Given the description of an element on the screen output the (x, y) to click on. 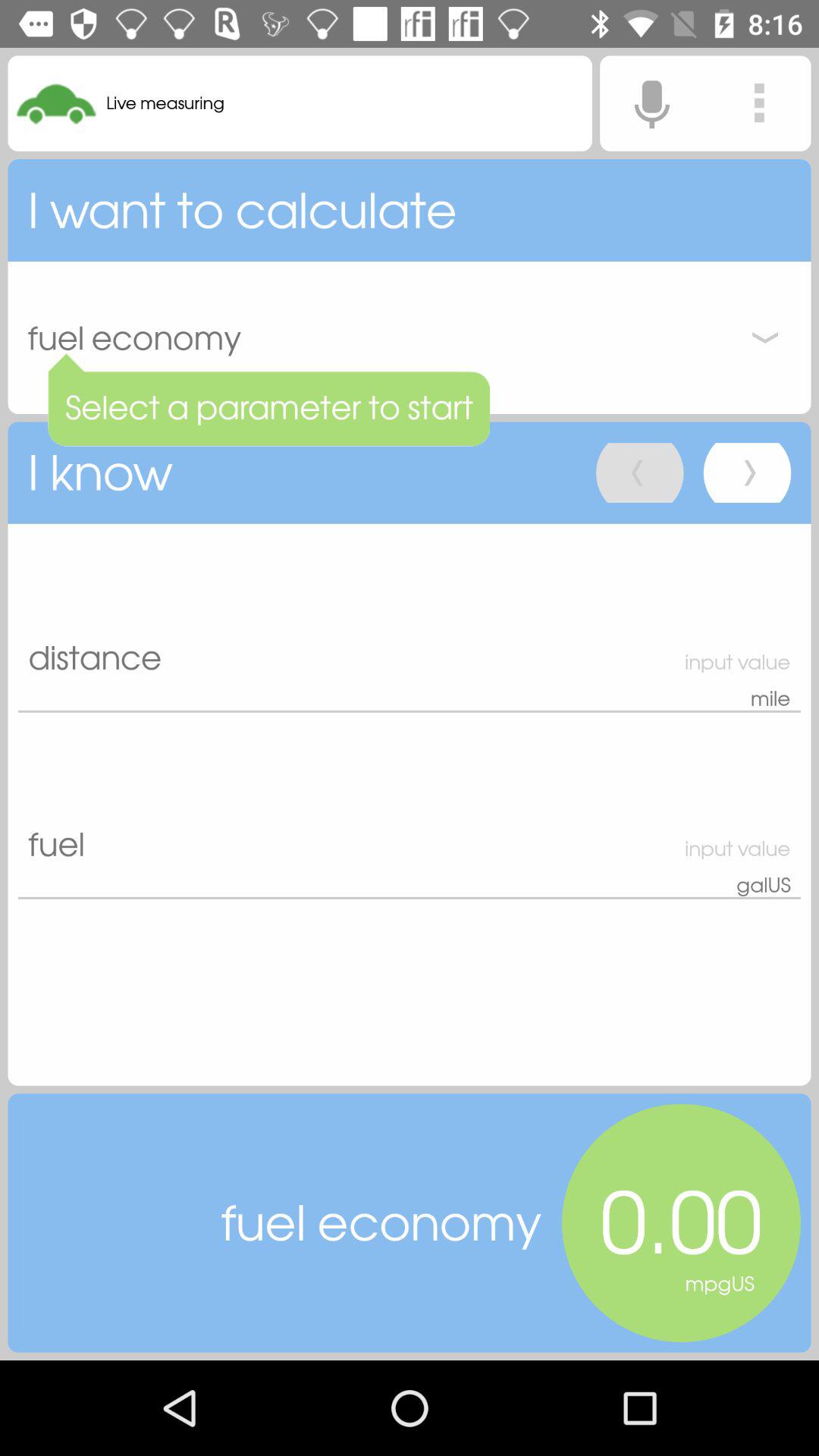
click on last button in i know field (747, 472)
click the mike icon left to 3 vertical dots (651, 103)
click the 3 vertical dots at top right corner (759, 103)
click on first text field (409, 617)
